Given the description of an element on the screen output the (x, y) to click on. 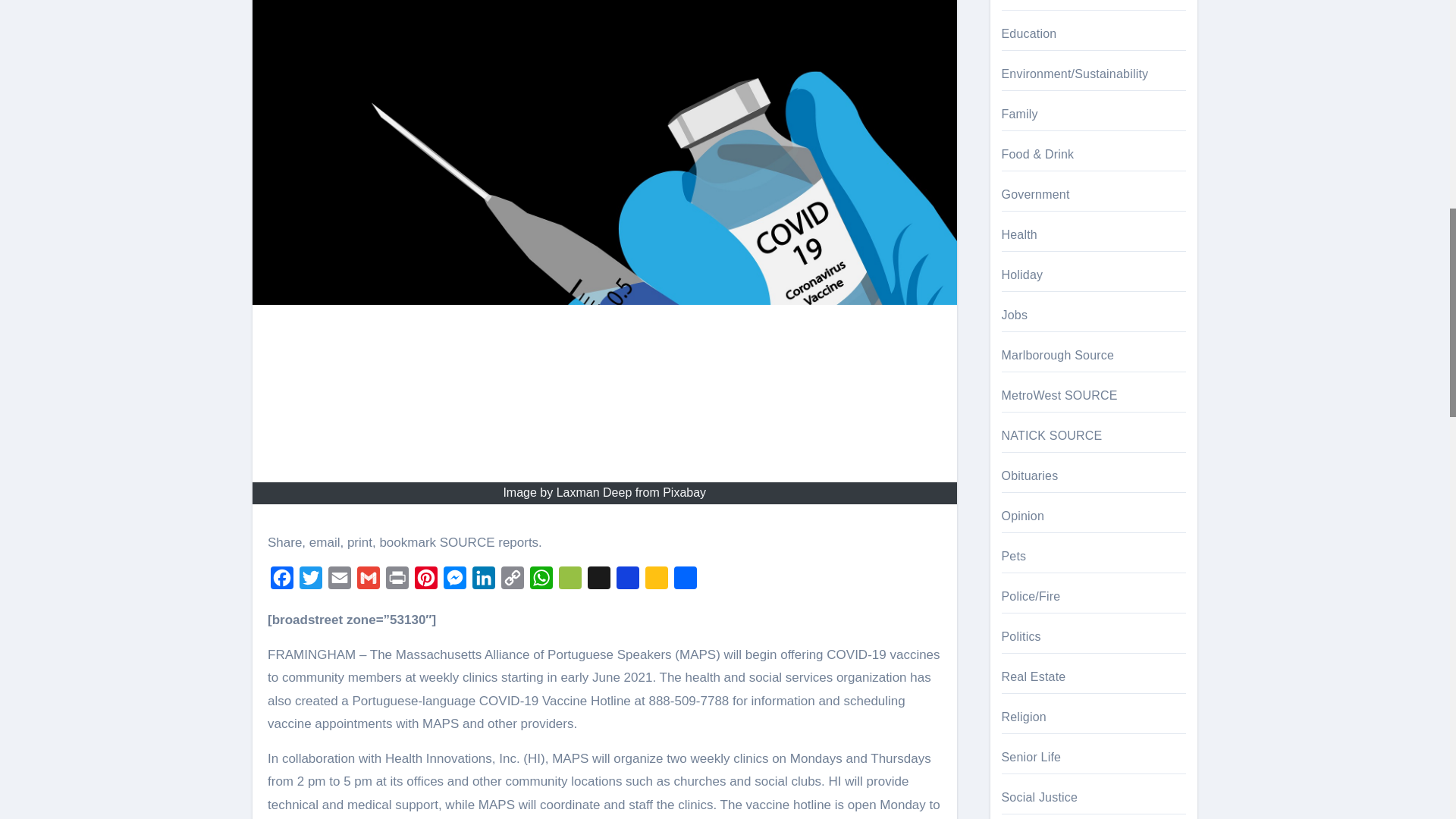
Facebook (282, 581)
Gmail (367, 581)
Print (397, 581)
Twitter (310, 581)
Email (338, 581)
